Given the description of an element on the screen output the (x, y) to click on. 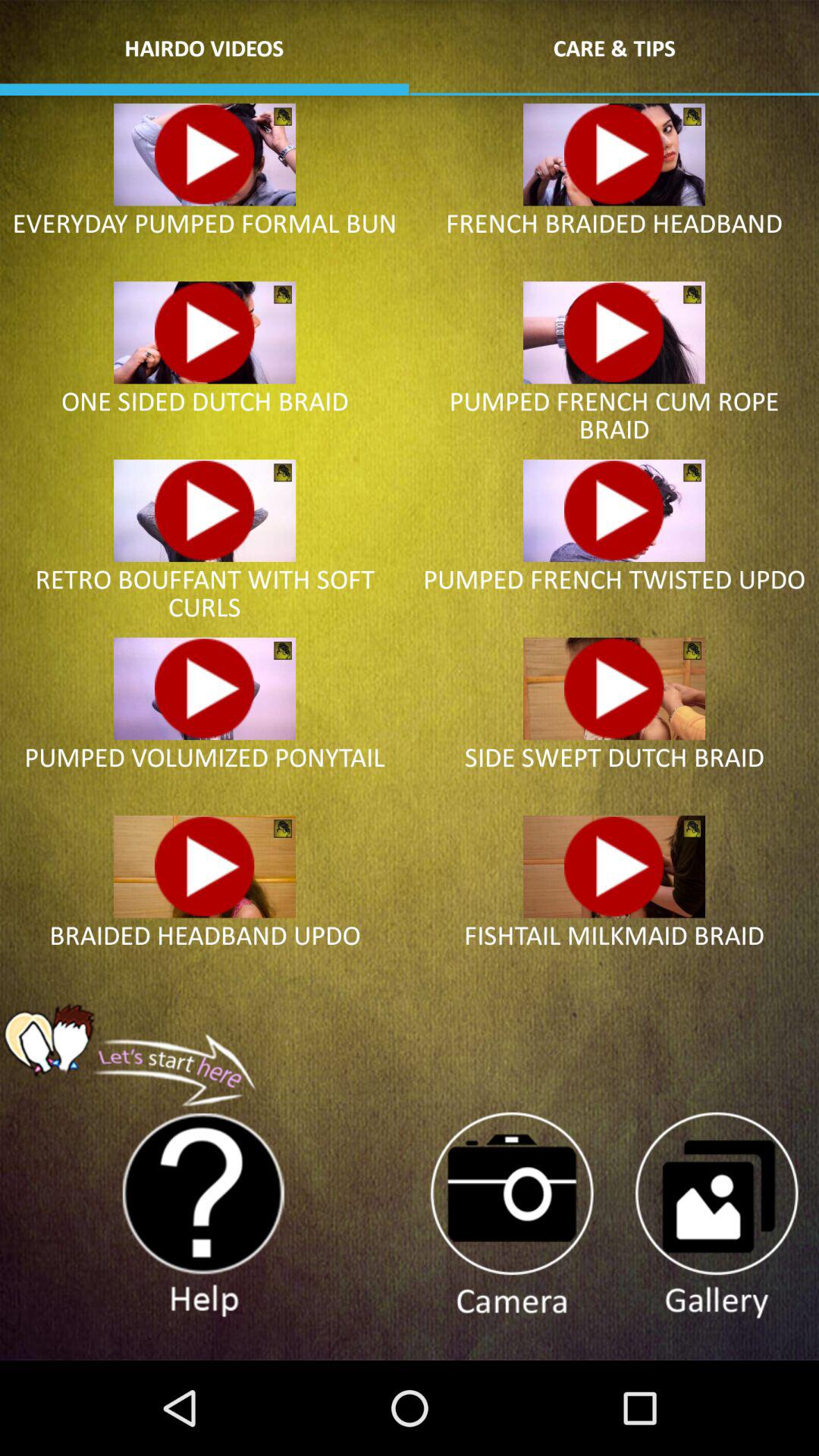
help (204, 1215)
